Given the description of an element on the screen output the (x, y) to click on. 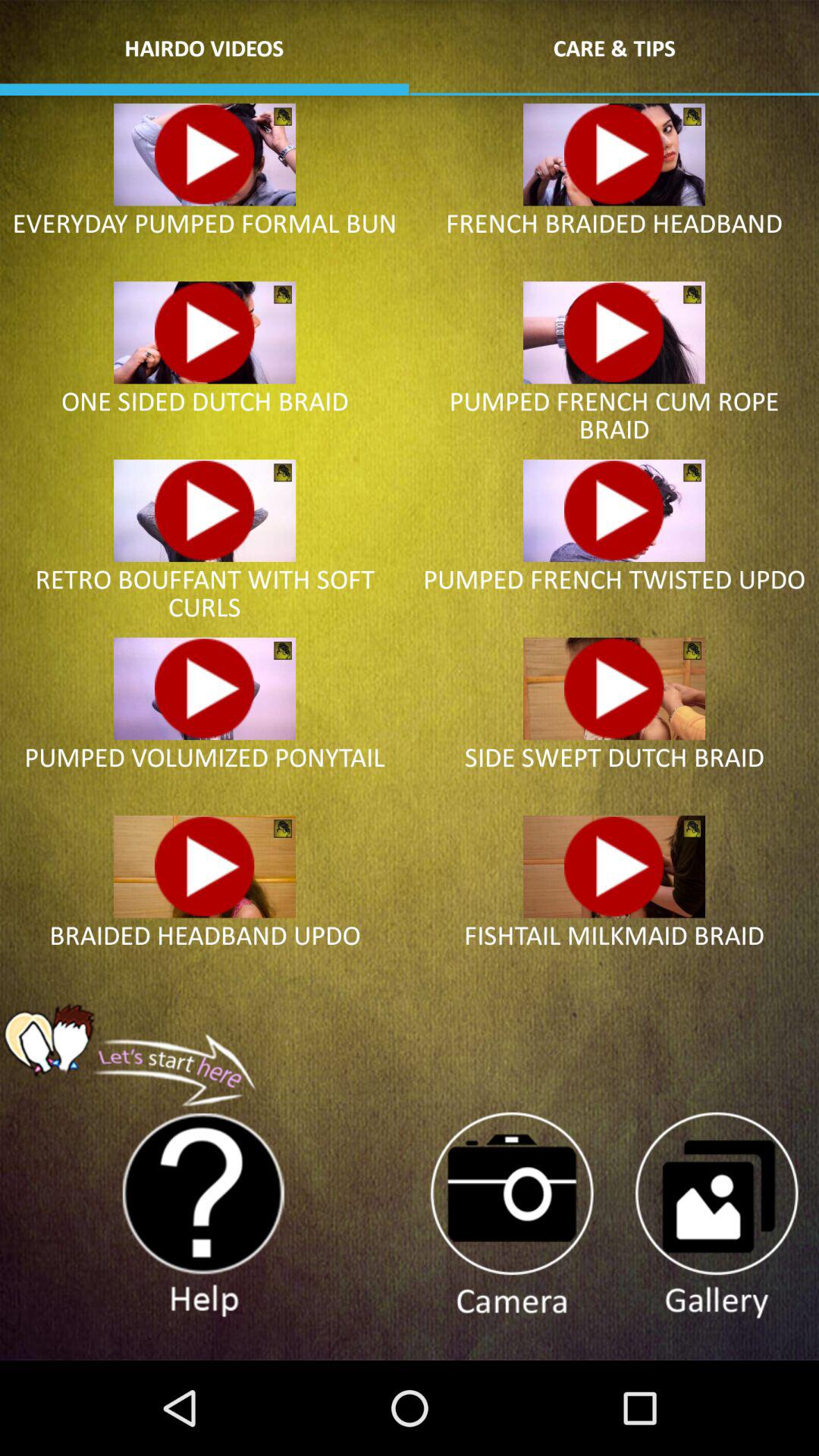
help (204, 1215)
